Given the description of an element on the screen output the (x, y) to click on. 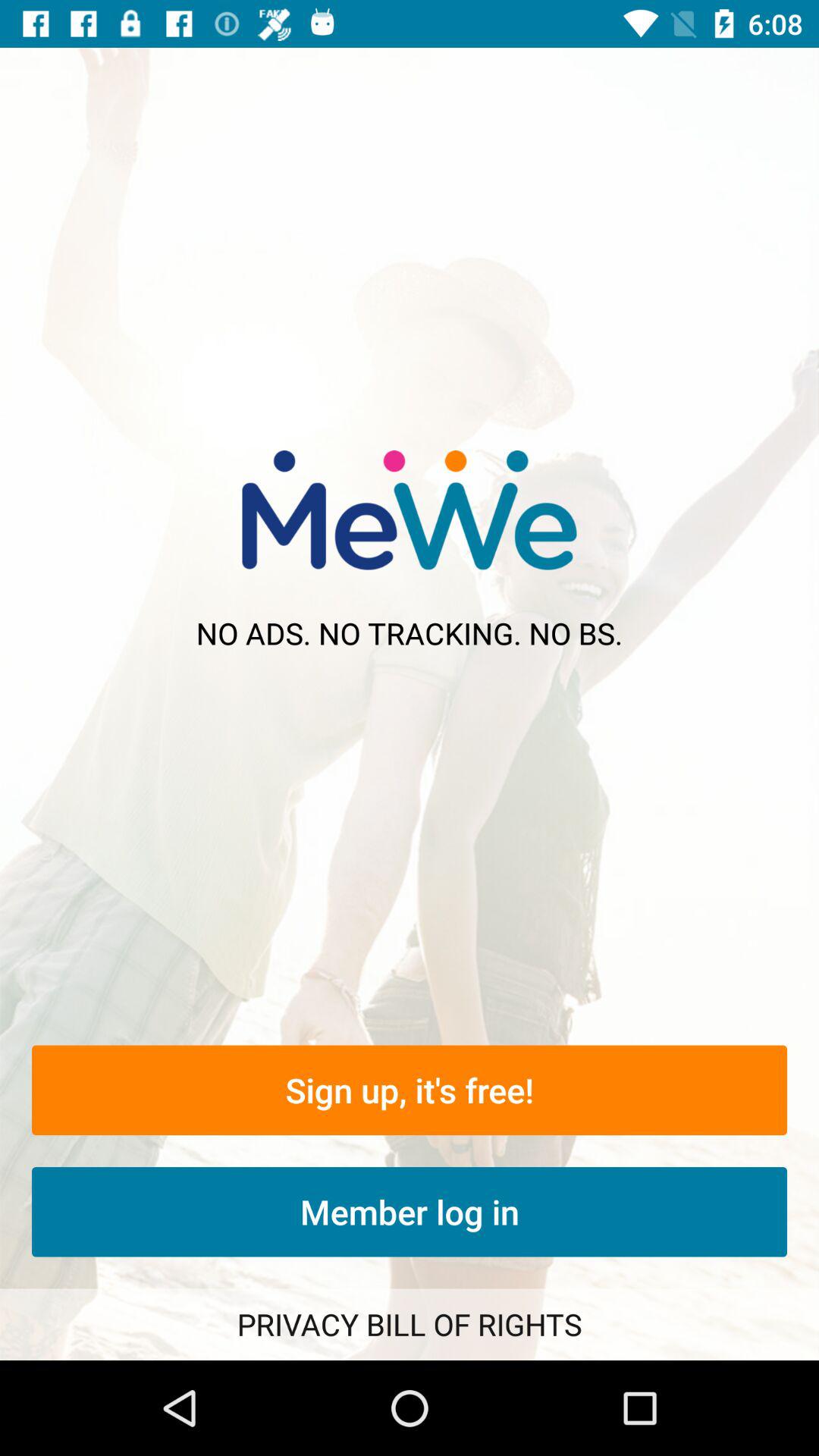
jump until privacy bill of (409, 1324)
